Given the description of an element on the screen output the (x, y) to click on. 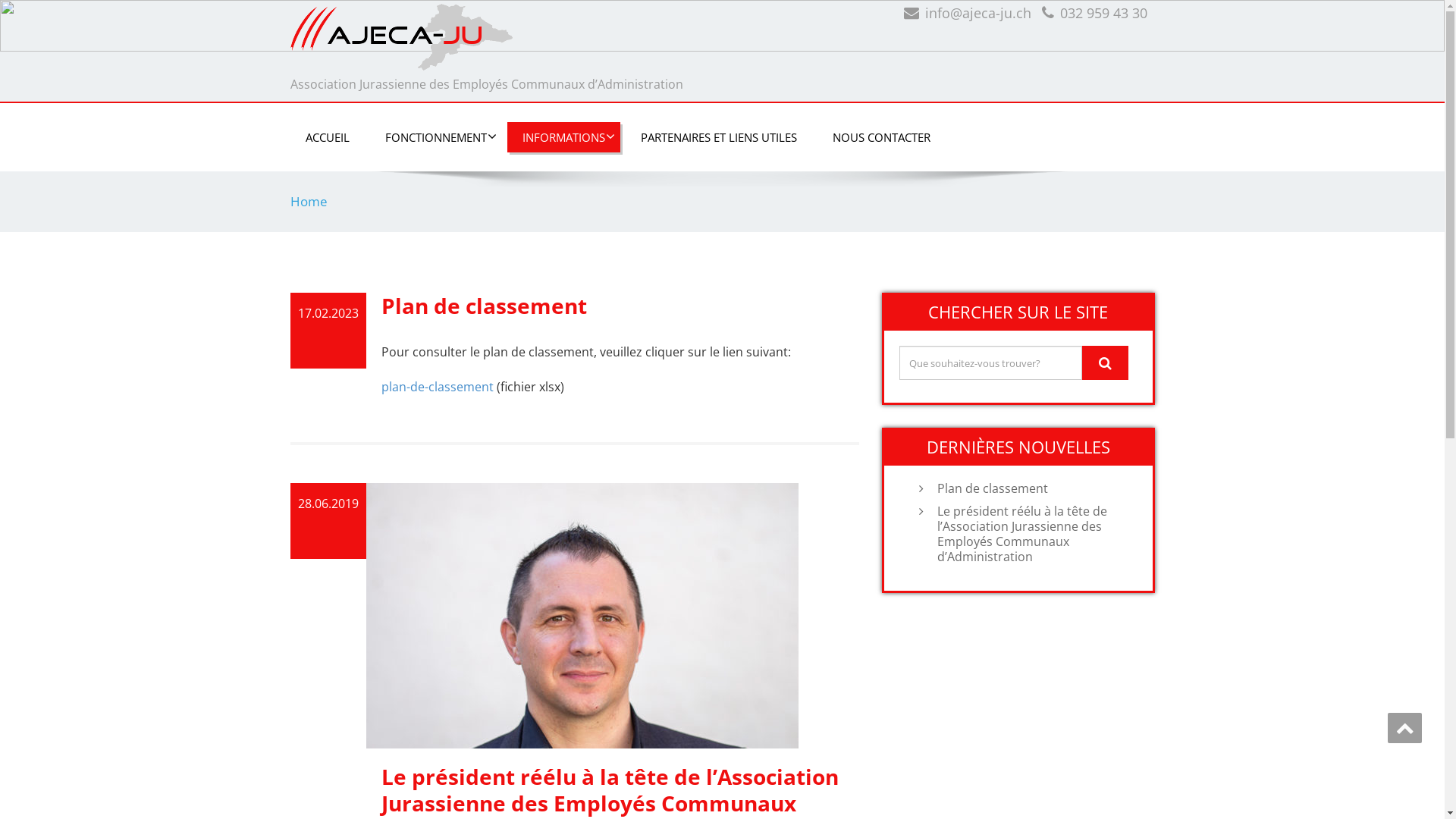
Home Element type: text (307, 201)
ACCUEIL Element type: text (326, 137)
INFORMATIONS Element type: text (562, 137)
FONCTIONNEMENT Element type: text (436, 137)
AJECA-JU Element type: hover (499, 36)
Go Top Element type: hover (1404, 727)
Plan de classement Element type: text (1033, 487)
PARTENAIRES ET LIENS UTILES Element type: text (717, 137)
032 959 43 30 Element type: text (1103, 12)
info@ajeca-ju.ch Element type: text (978, 12)
NOUS CONTACTER Element type: text (881, 137)
Plan de classement Element type: text (483, 305)
plan-de-classement Element type: text (436, 386)
